Given the description of an element on the screen output the (x, y) to click on. 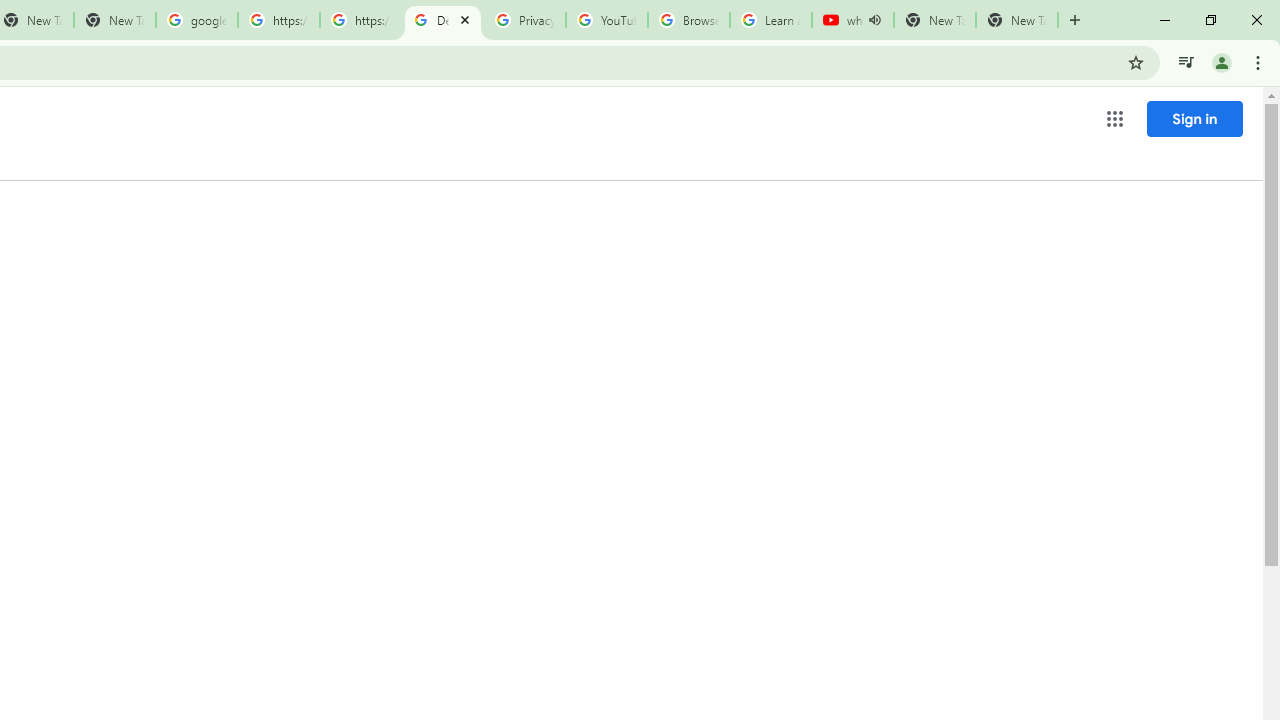
Browse Chrome as a guest - Computer - Google Chrome Help (688, 20)
